Given the description of an element on the screen output the (x, y) to click on. 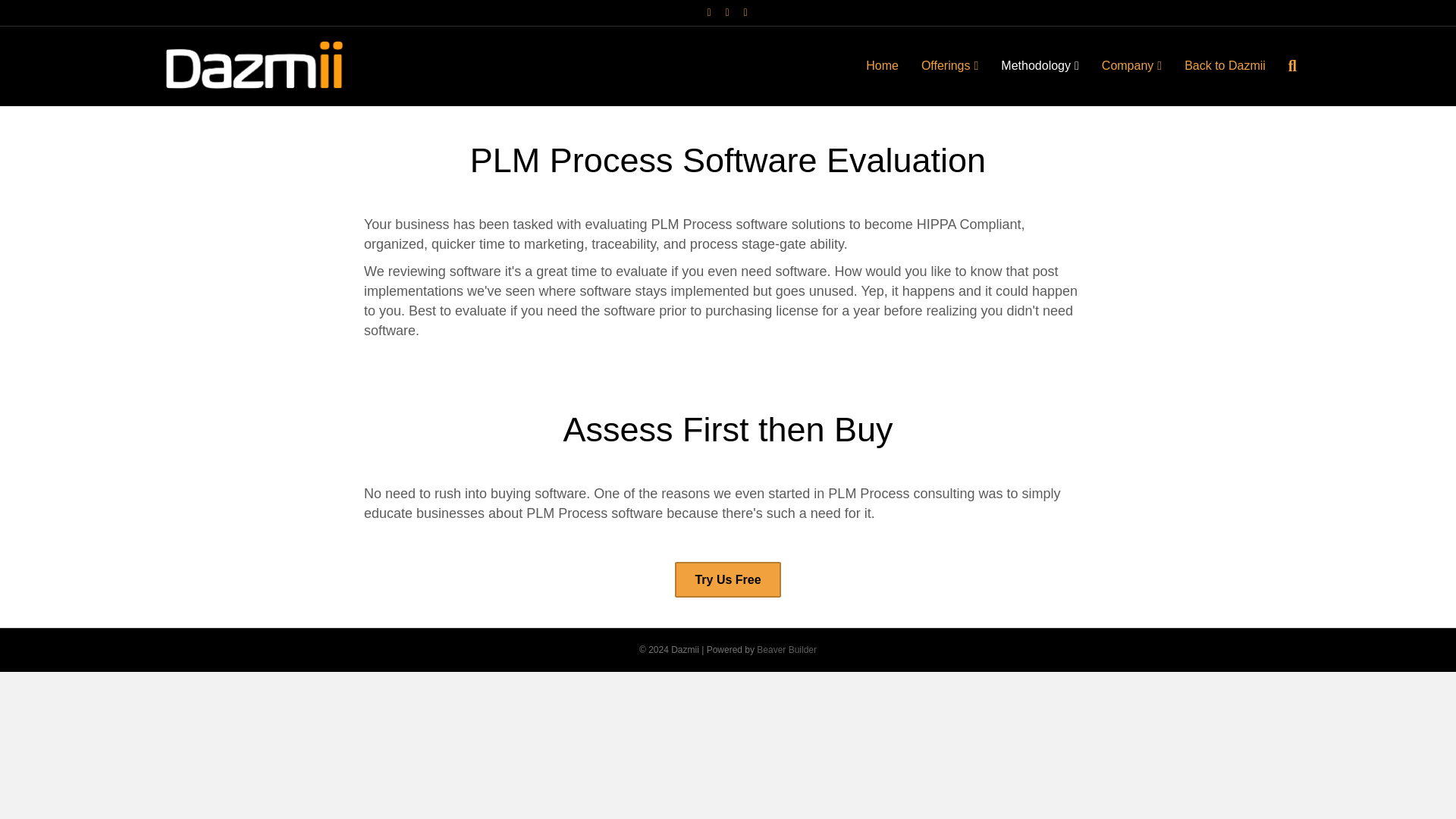
Linkedin (745, 11)
Company (1131, 65)
Methodology (1039, 65)
Offerings (950, 65)
Back to Dazmii (1224, 65)
Facebook (708, 11)
Try Us Free (727, 579)
WordPress Page Builder Plugin (786, 649)
Twitter (726, 11)
Home (882, 65)
